Given the description of an element on the screen output the (x, y) to click on. 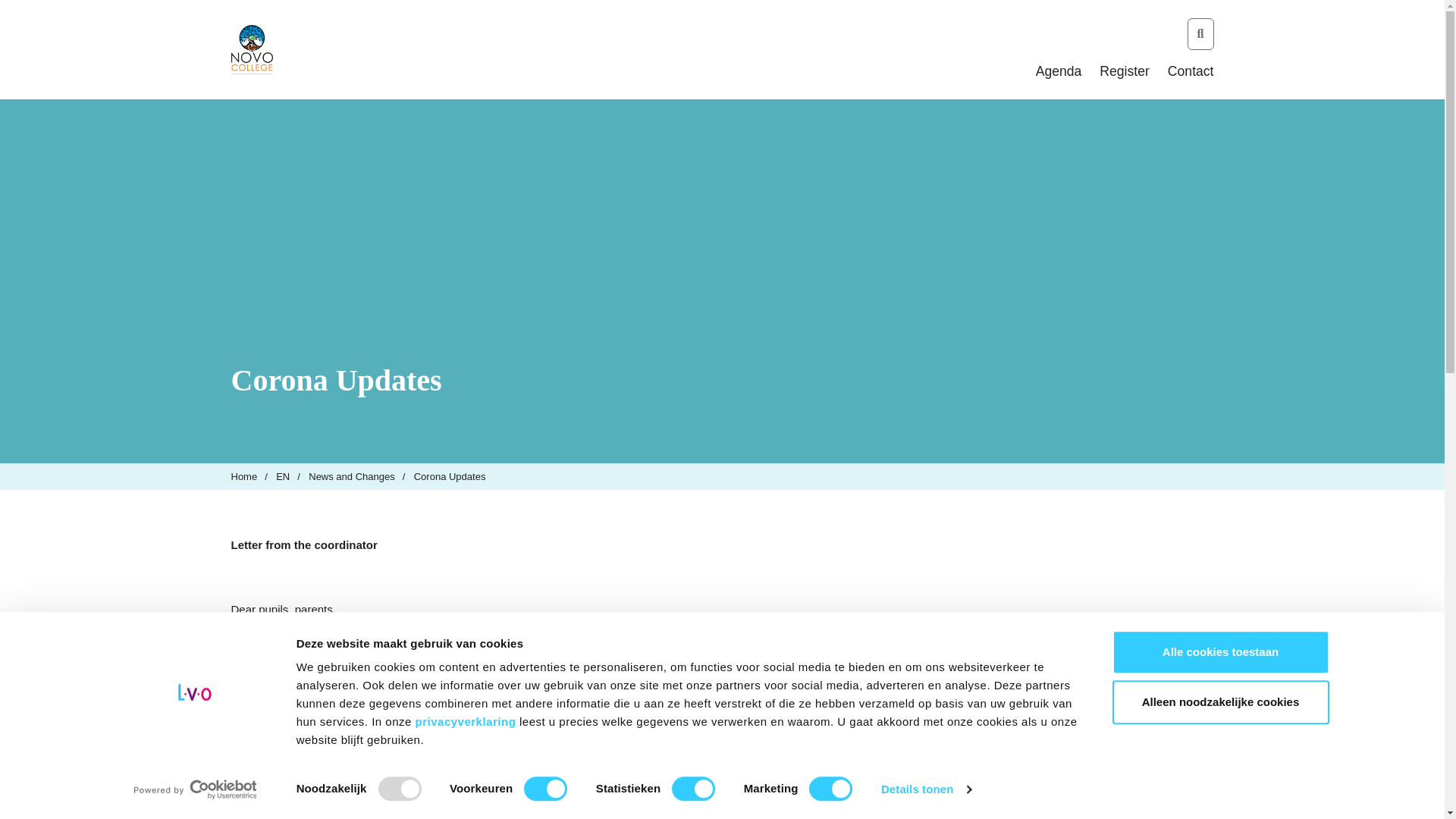
Contact (1190, 70)
Alle cookies toestaan (1219, 651)
Register (1124, 70)
Agenda (1058, 70)
Details tonen (925, 789)
Alleen noodzakelijke cookies (1219, 701)
privacyverklaring  (466, 721)
